Given the description of an element on the screen output the (x, y) to click on. 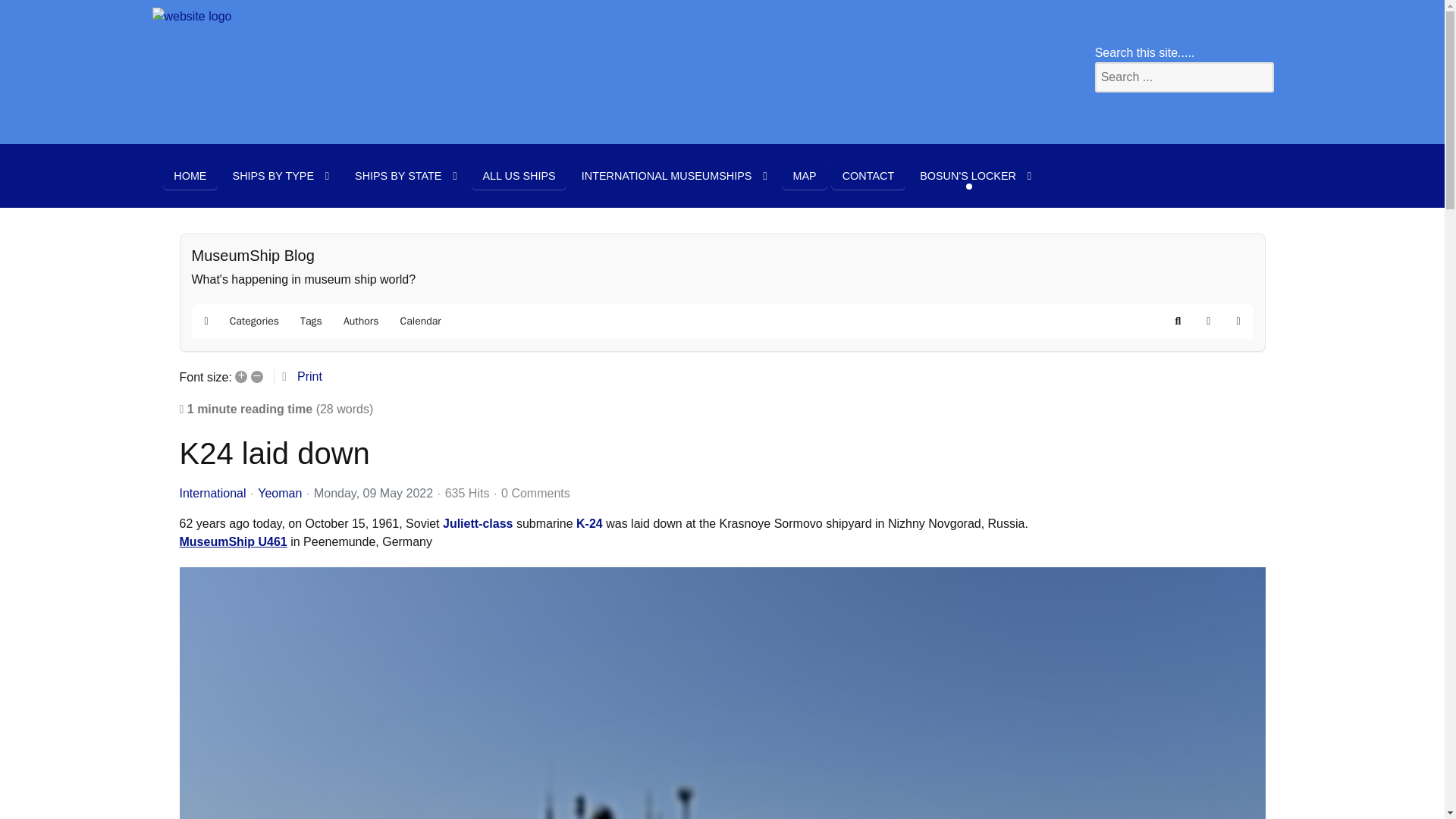
Ships by type (280, 175)
Home (188, 175)
HOME (188, 175)
